Given the description of an element on the screen output the (x, y) to click on. 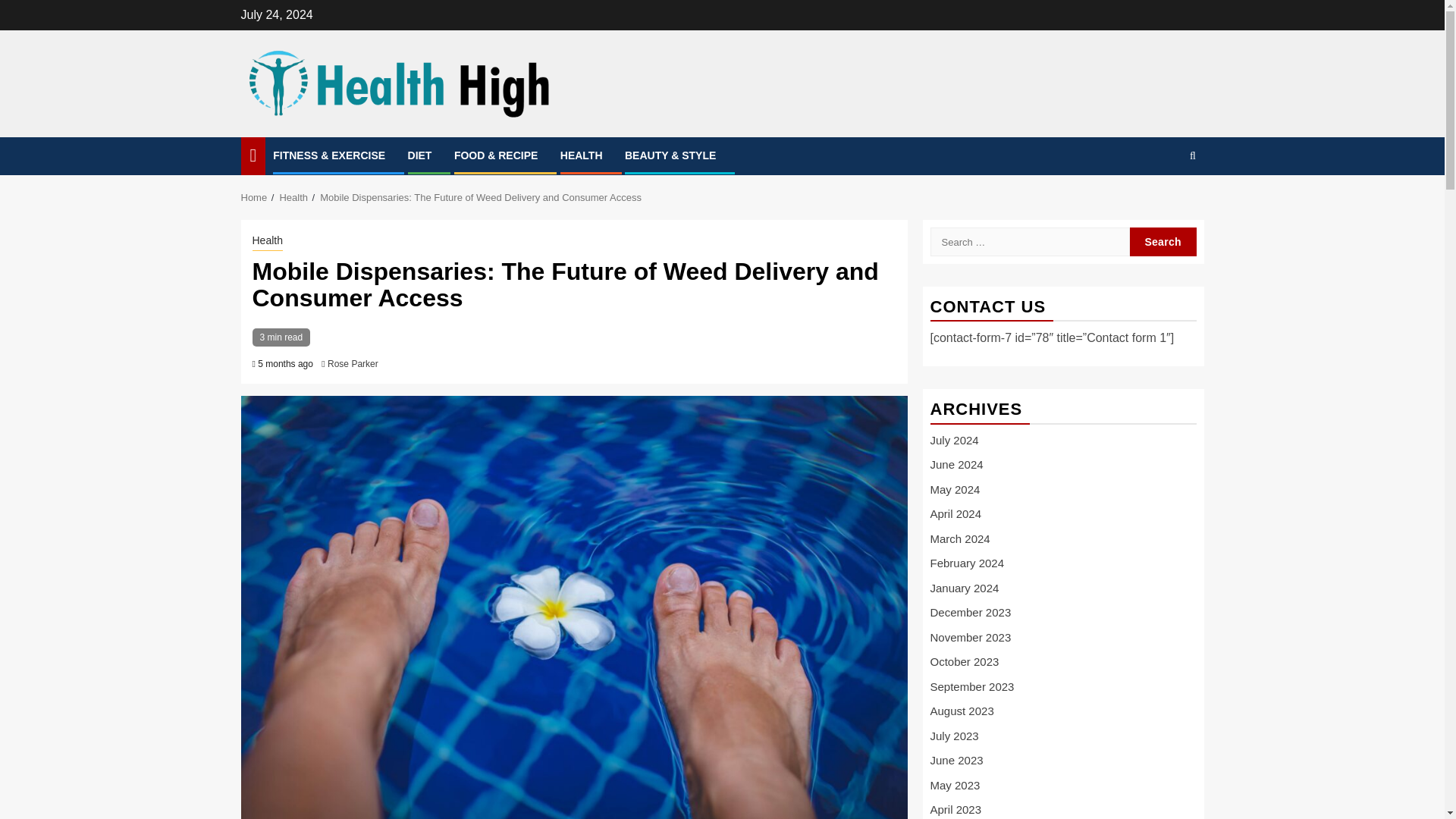
Home (254, 197)
July 2024 (954, 440)
February 2024 (967, 562)
Search (1163, 202)
March 2024 (960, 538)
Rose Parker (352, 363)
June 2024 (956, 463)
Health (293, 197)
Search (1162, 241)
DIET (419, 155)
April 2024 (955, 513)
Health (266, 241)
Search (1162, 241)
HEALTH (581, 155)
